Given the description of an element on the screen output the (x, y) to click on. 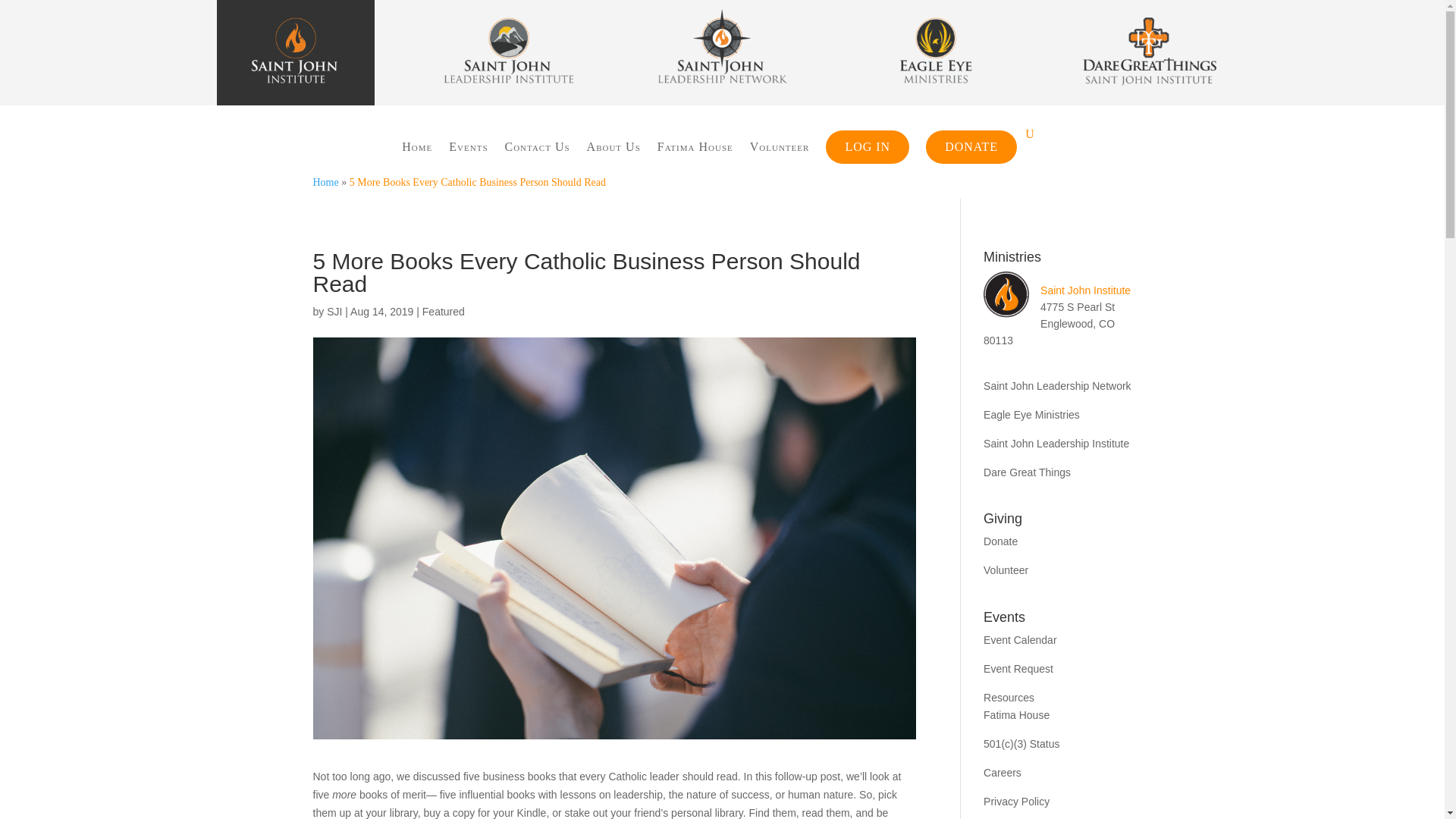
RGB SJLI VERT COLOR (508, 52)
Events (467, 146)
Contact Us (537, 146)
Posts by SJI (334, 311)
RGB DGT VERT COLOR Square (1148, 52)
About Us (613, 146)
Fatima House (695, 146)
Home (416, 146)
RGB WHITE TEXT SJI VERT COLOR (295, 52)
RGB SJLN VERT COLOR (721, 52)
RGB EEM VERT COLOR (935, 52)
